Given the description of an element on the screen output the (x, y) to click on. 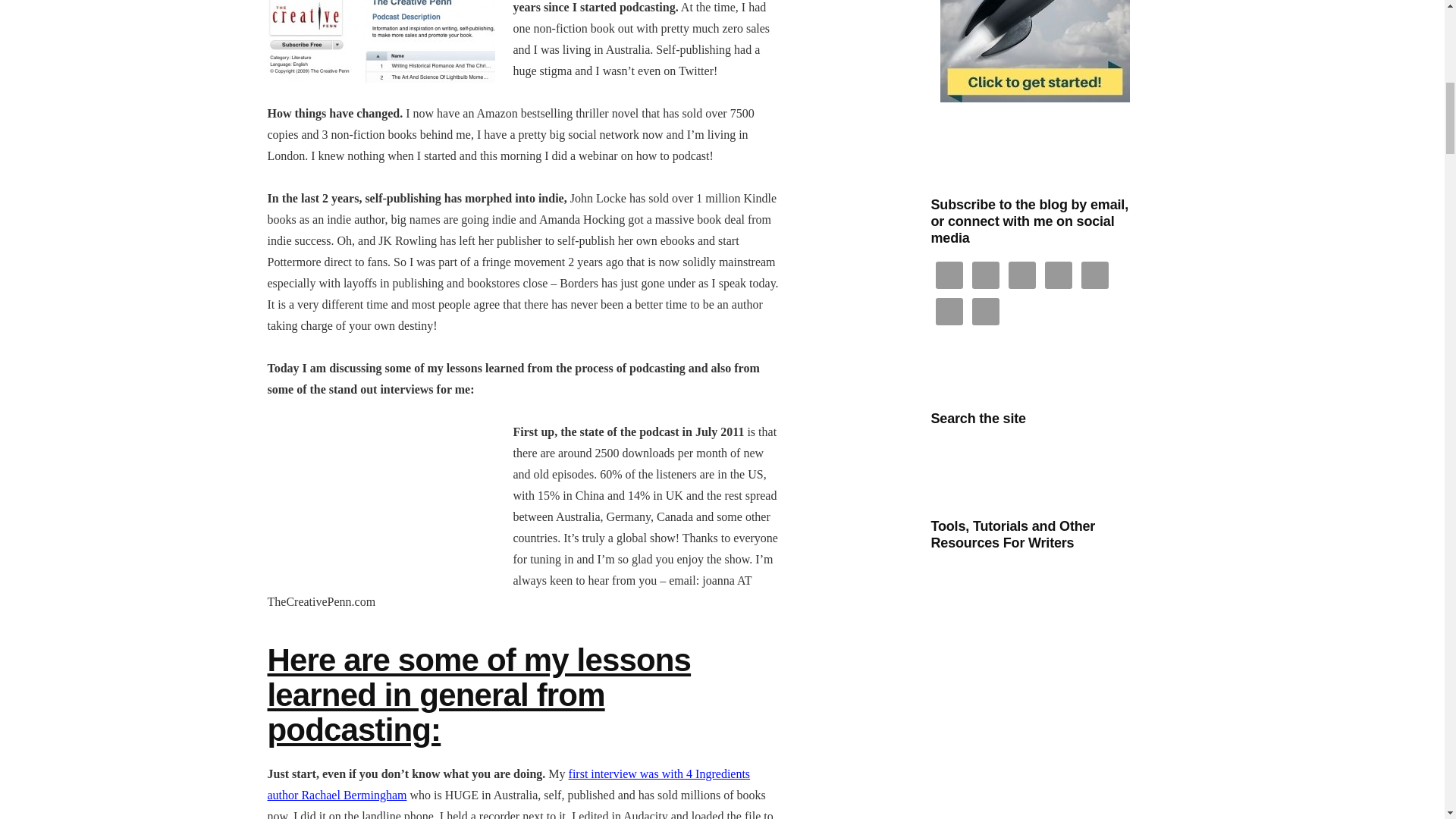
podcaststats (380, 486)
rachael bermingham (507, 784)
creativepennpodcast (380, 41)
